Given the description of an element on the screen output the (x, y) to click on. 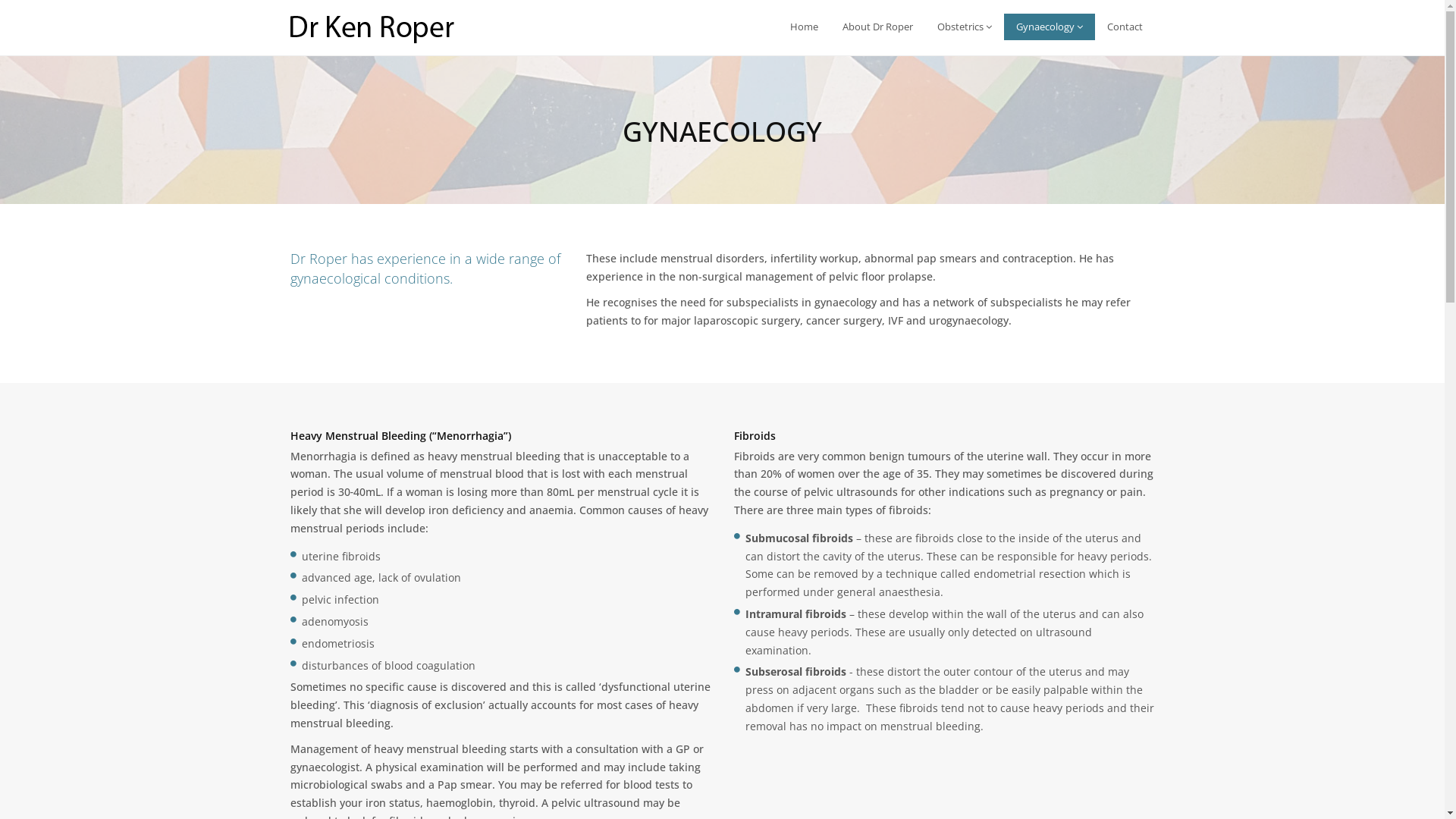
Home Element type: text (804, 26)
About Dr Roper Element type: text (876, 26)
Obstetrics Element type: text (964, 26)
Gynaecology Element type: text (1049, 26)
Contact Element type: text (1124, 26)
